Given the description of an element on the screen output the (x, y) to click on. 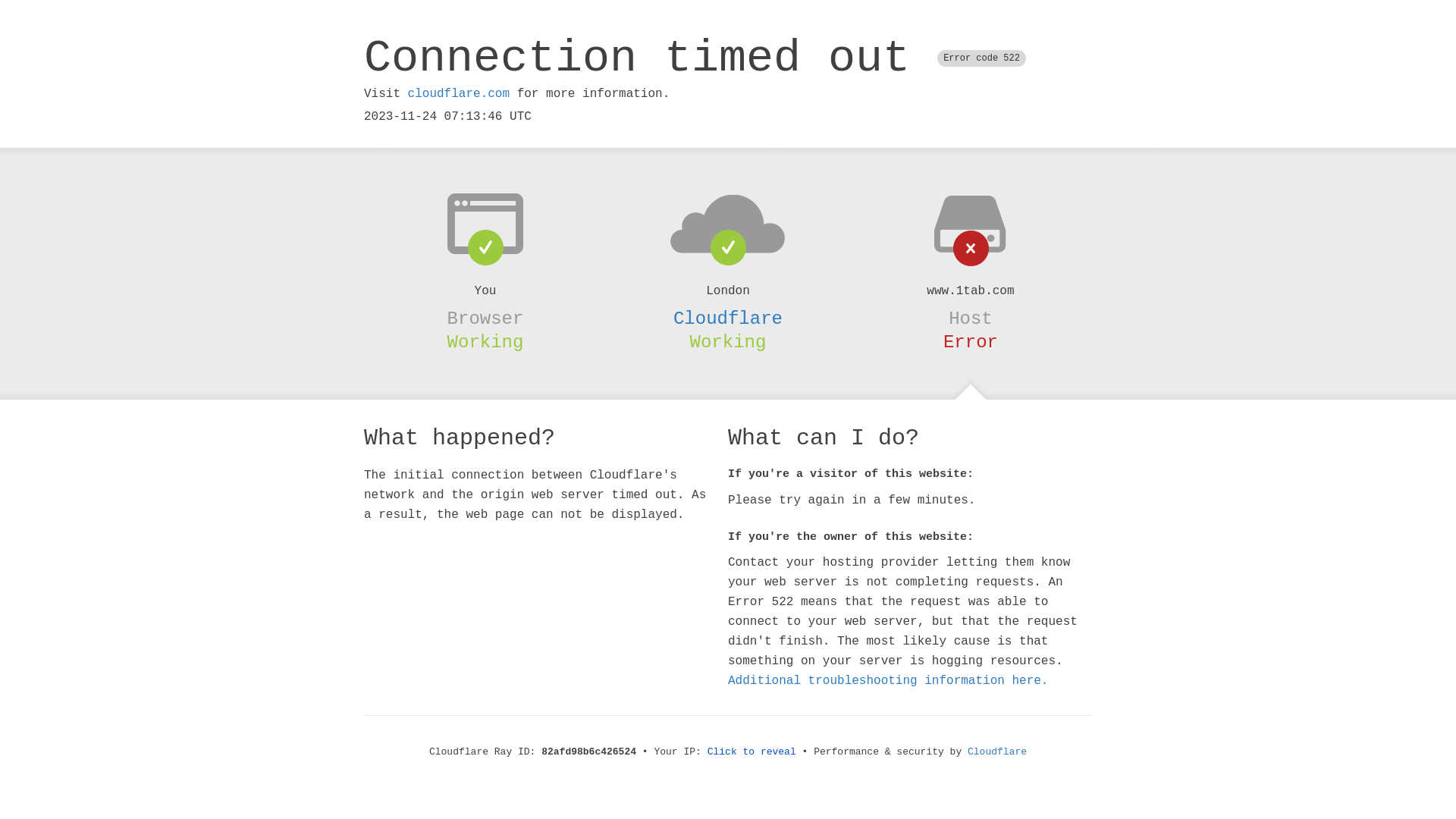
Cloudflare Element type: text (996, 751)
Additional troubleshooting information here. Element type: text (888, 680)
cloudflare.com Element type: text (458, 93)
Click to reveal Element type: text (751, 751)
Cloudflare Element type: text (727, 318)
